Given the description of an element on the screen output the (x, y) to click on. 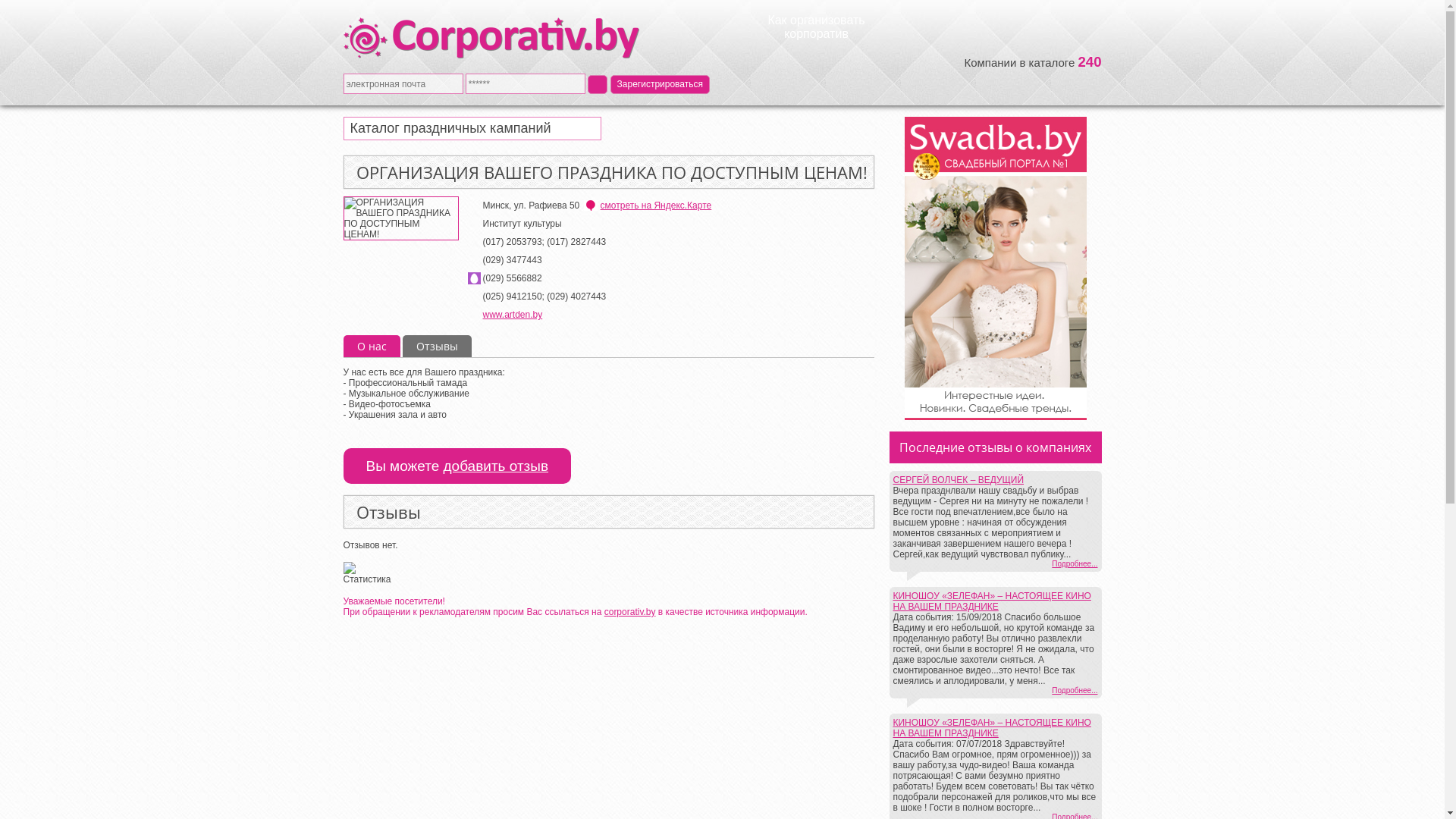
www.artden.by Element type: text (512, 314)
corporativ.by Element type: text (629, 611)
  Element type: text (597, 83)
